Given the description of an element on the screen output the (x, y) to click on. 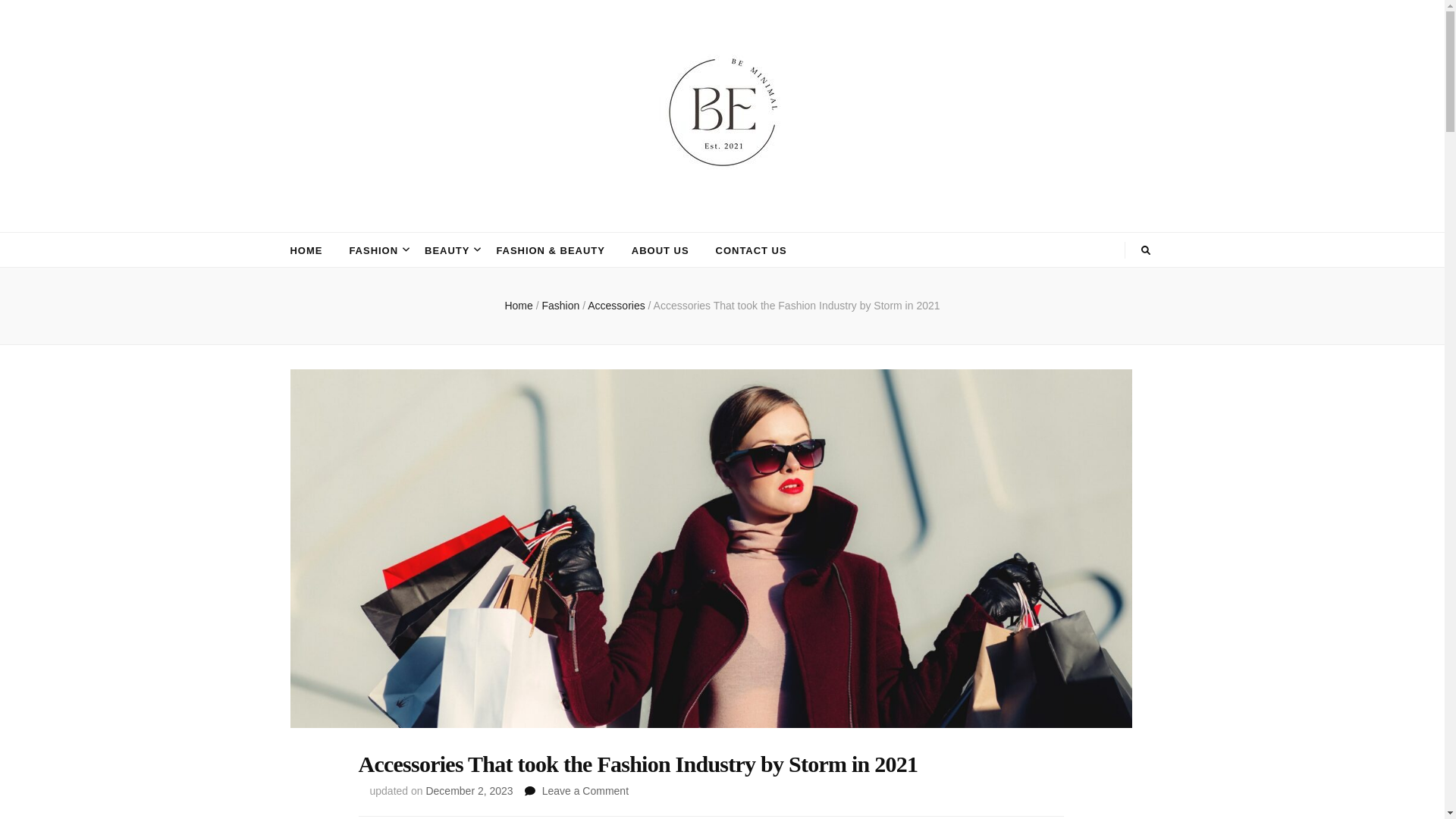
Accessories (617, 305)
HOME (305, 250)
Accessories That took the Fashion Industry by Storm in 2021 (796, 305)
December 2, 2023 (468, 790)
CONTACT US (751, 250)
FASHION (373, 250)
Home (517, 305)
Fashion (561, 305)
BEAUTY (446, 250)
